Given the description of an element on the screen output the (x, y) to click on. 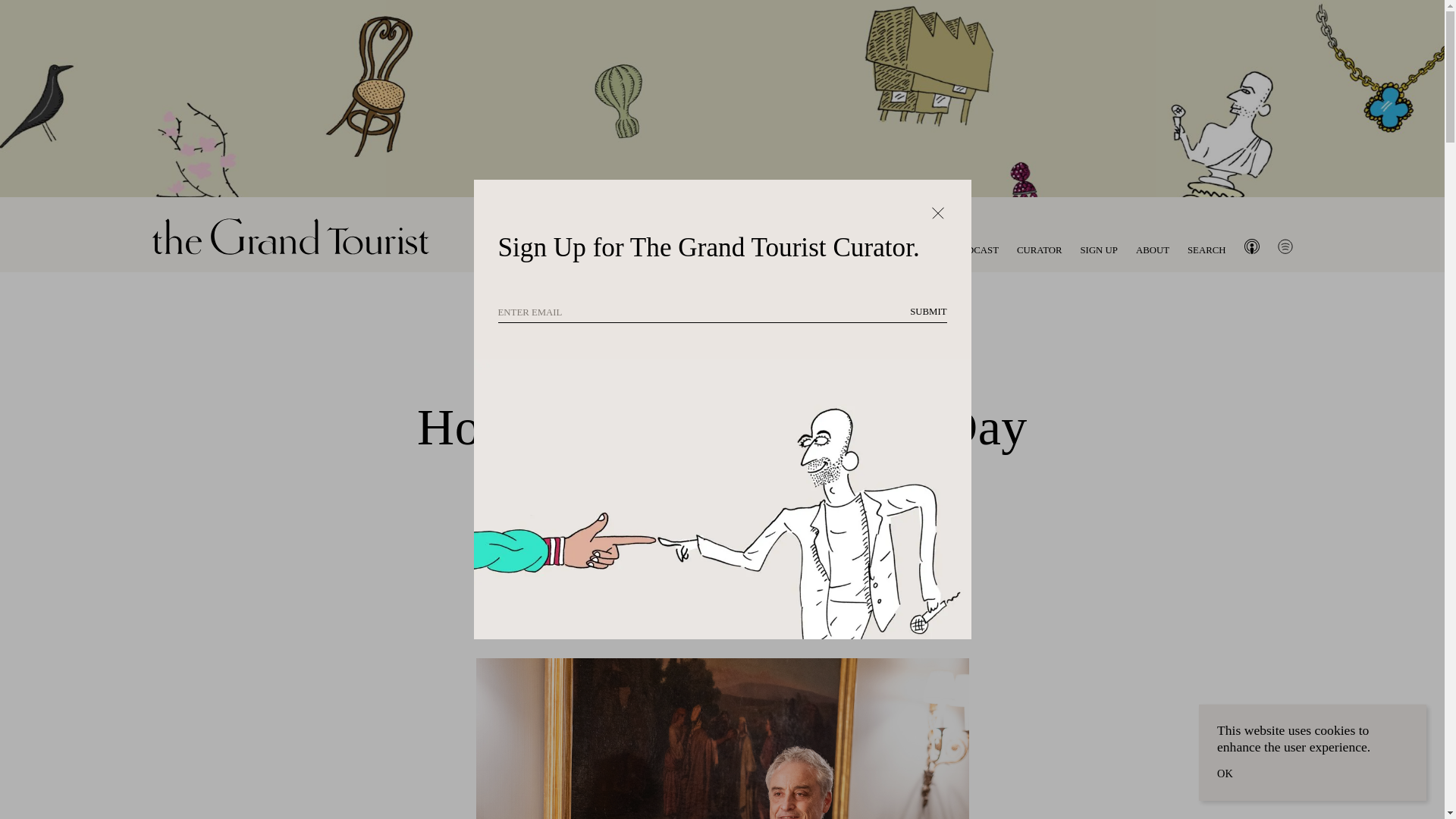
submit (928, 311)
OK (1225, 773)
The grand tourist logo (289, 240)
PODCAST (976, 249)
submit (928, 311)
ABOUT (1152, 249)
SIGN UP (1098, 249)
SEARCH (1206, 250)
CURATOR (1039, 249)
